Given the description of an element on the screen output the (x, y) to click on. 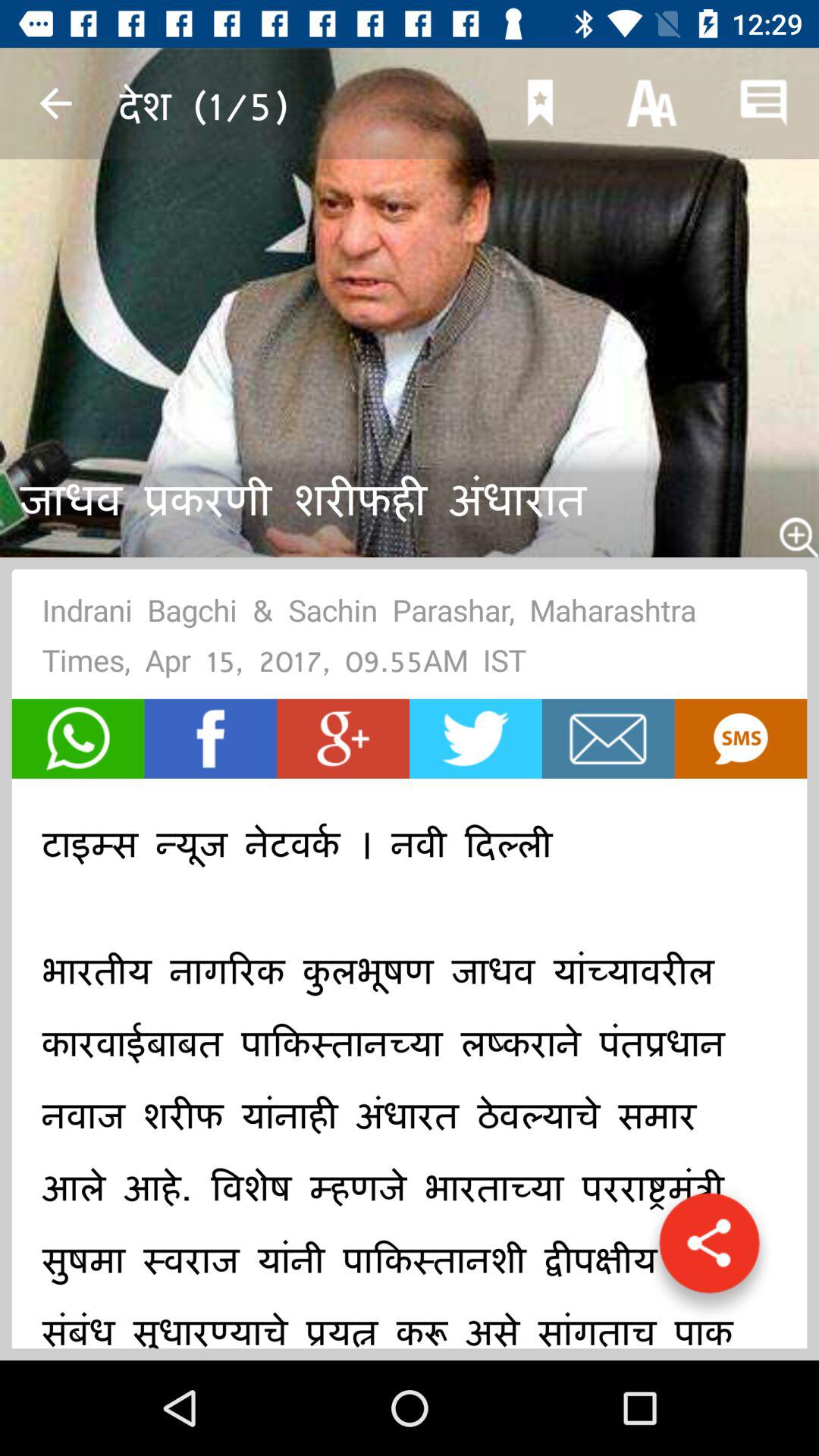
go with facebook button (210, 738)
